Given the description of an element on the screen output the (x, y) to click on. 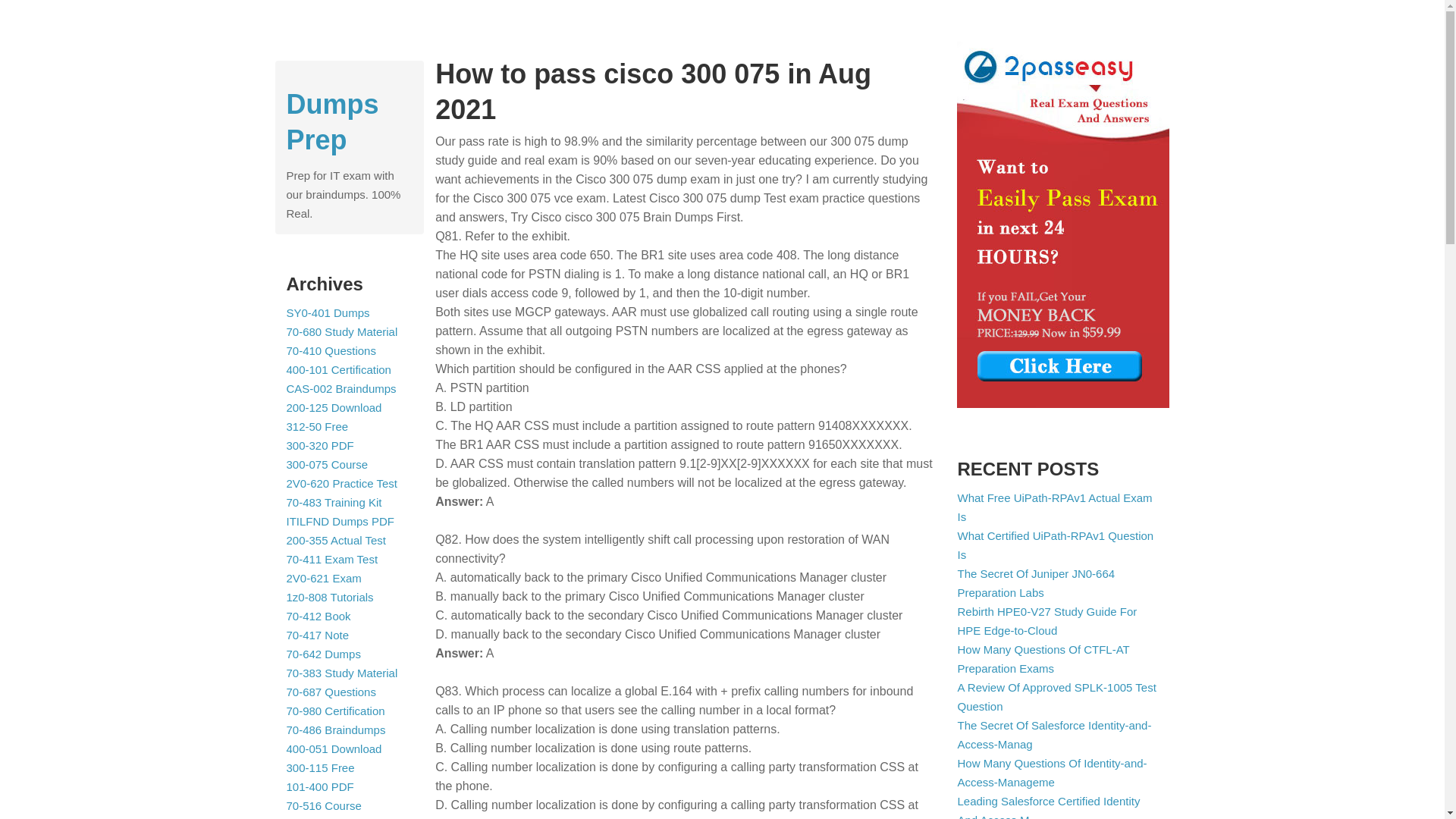
400-051 Download (333, 748)
2V0-620 Practice Test (341, 482)
70-412 Book (318, 615)
70-417 Note (317, 634)
300-320 PDF (319, 445)
SY0-401 Dumps (327, 312)
200-125 Download (333, 407)
2V0-621 Exam (323, 577)
300-075 Course (327, 463)
70-411 Exam Test (332, 558)
312-50 Free (317, 426)
70-410 Questions (330, 350)
70-483 Training Kit (333, 502)
2V0-621 Exam (323, 577)
SY0-401 Dumps (327, 312)
